Given the description of an element on the screen output the (x, y) to click on. 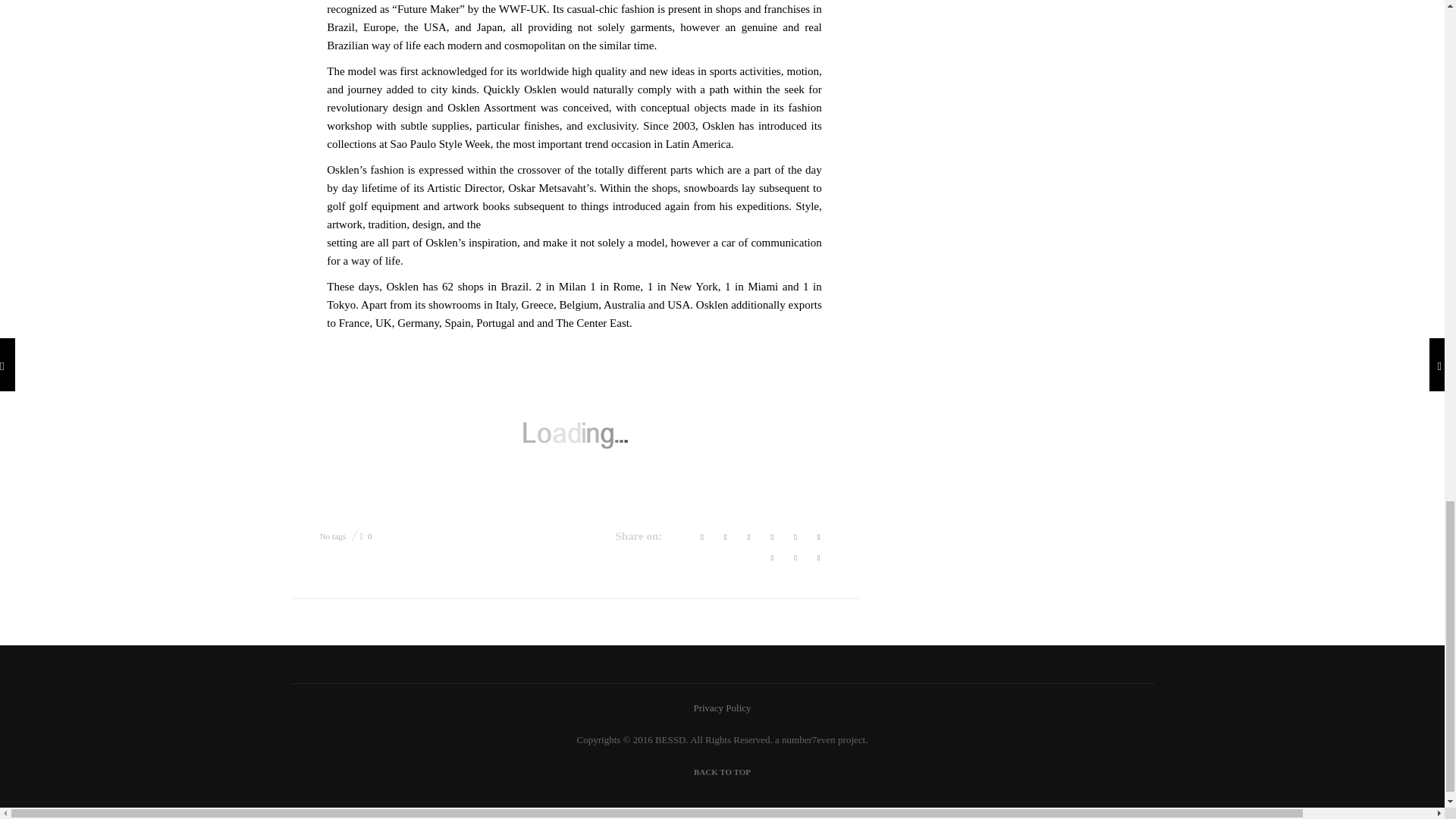
Like this (365, 535)
